Given the description of an element on the screen output the (x, y) to click on. 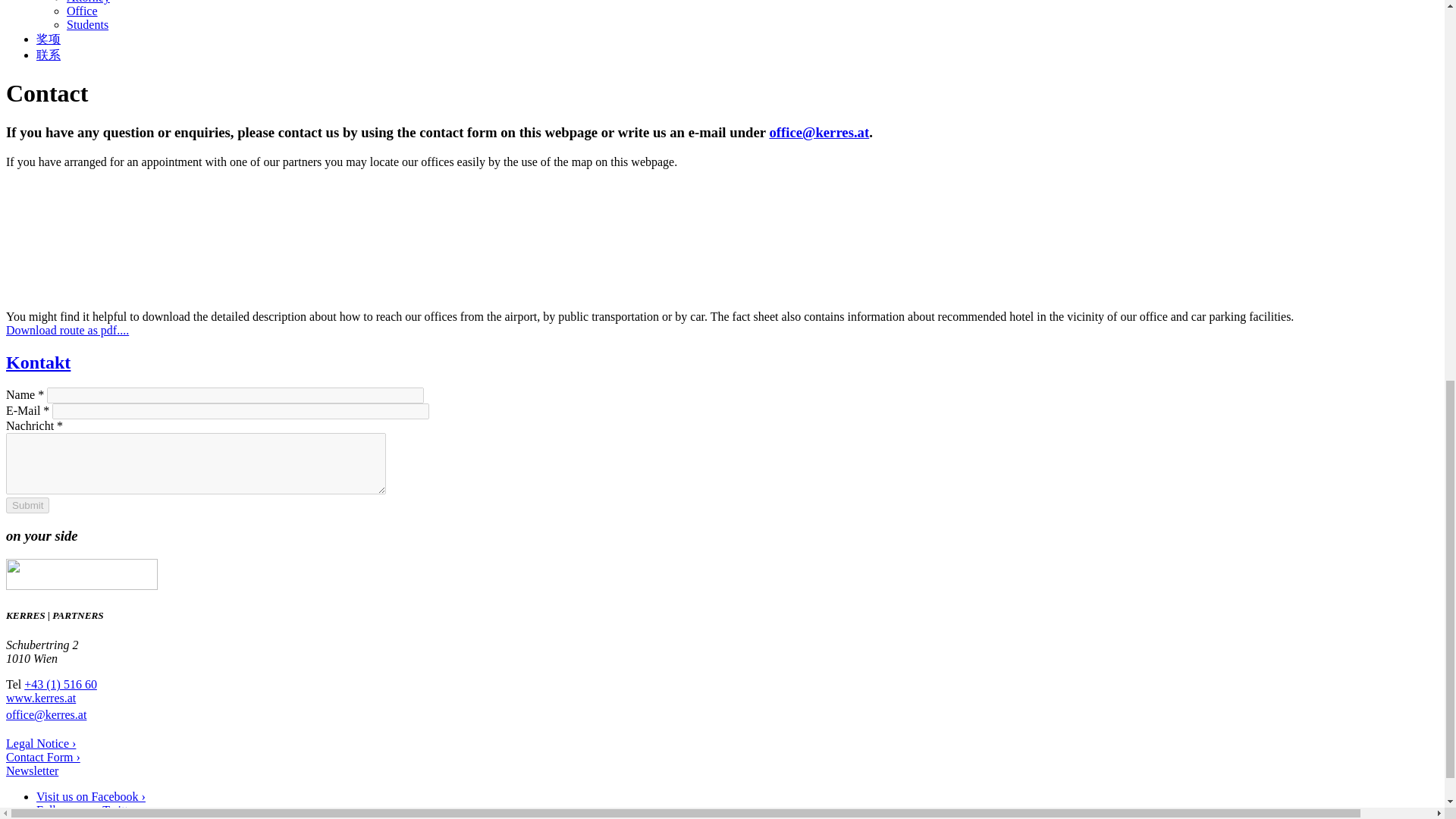
Students (86, 24)
Kontakt (37, 362)
Submit (27, 505)
Submit (27, 505)
Office (81, 10)
Download route as pdf.... (67, 329)
Attorney (88, 2)
